Given the description of an element on the screen output the (x, y) to click on. 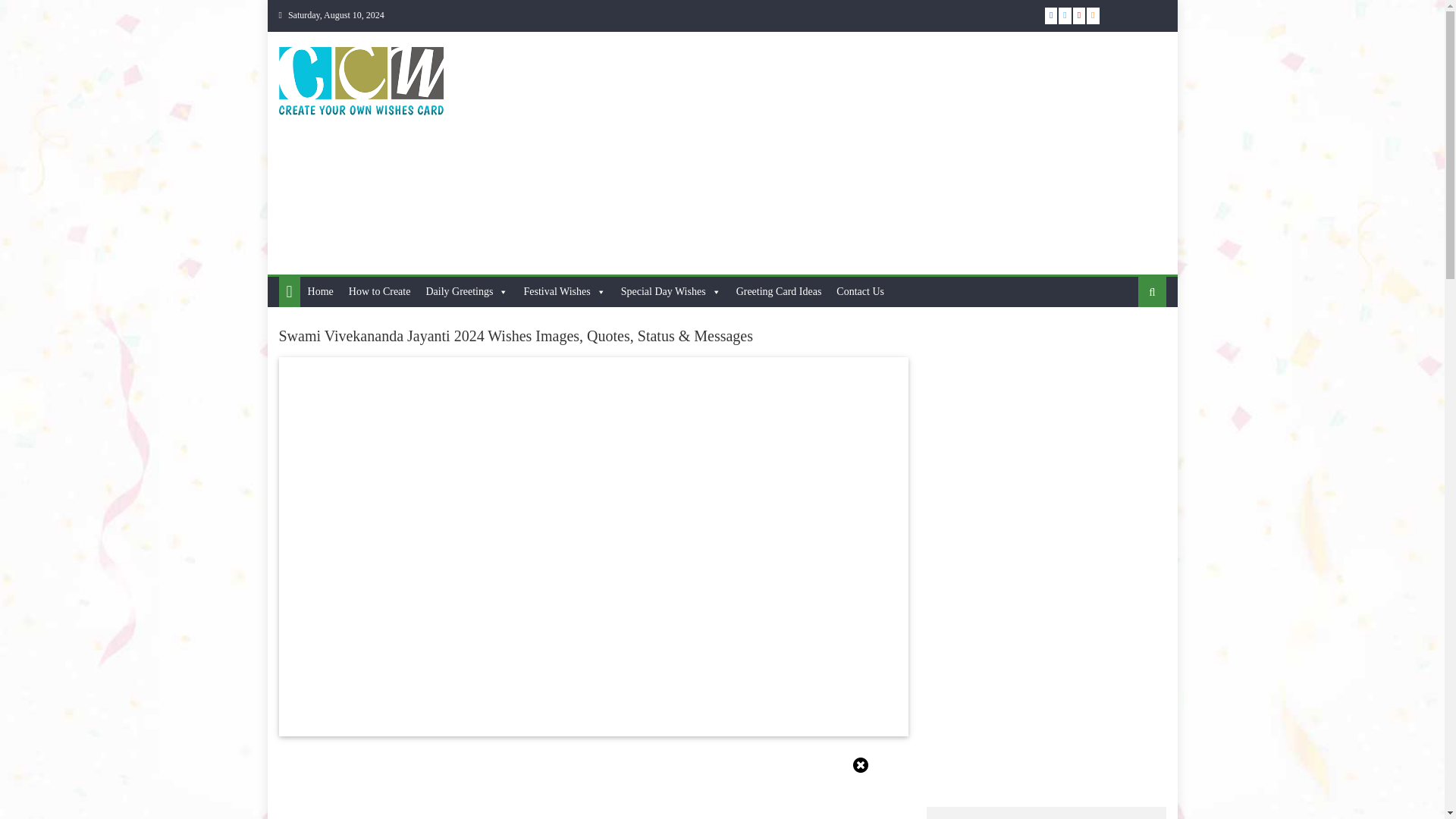
Daily Greetings (466, 291)
Advertisement (890, 152)
Home (319, 291)
How to Create (379, 291)
Festival Wishes (563, 291)
